Given the description of an element on the screen output the (x, y) to click on. 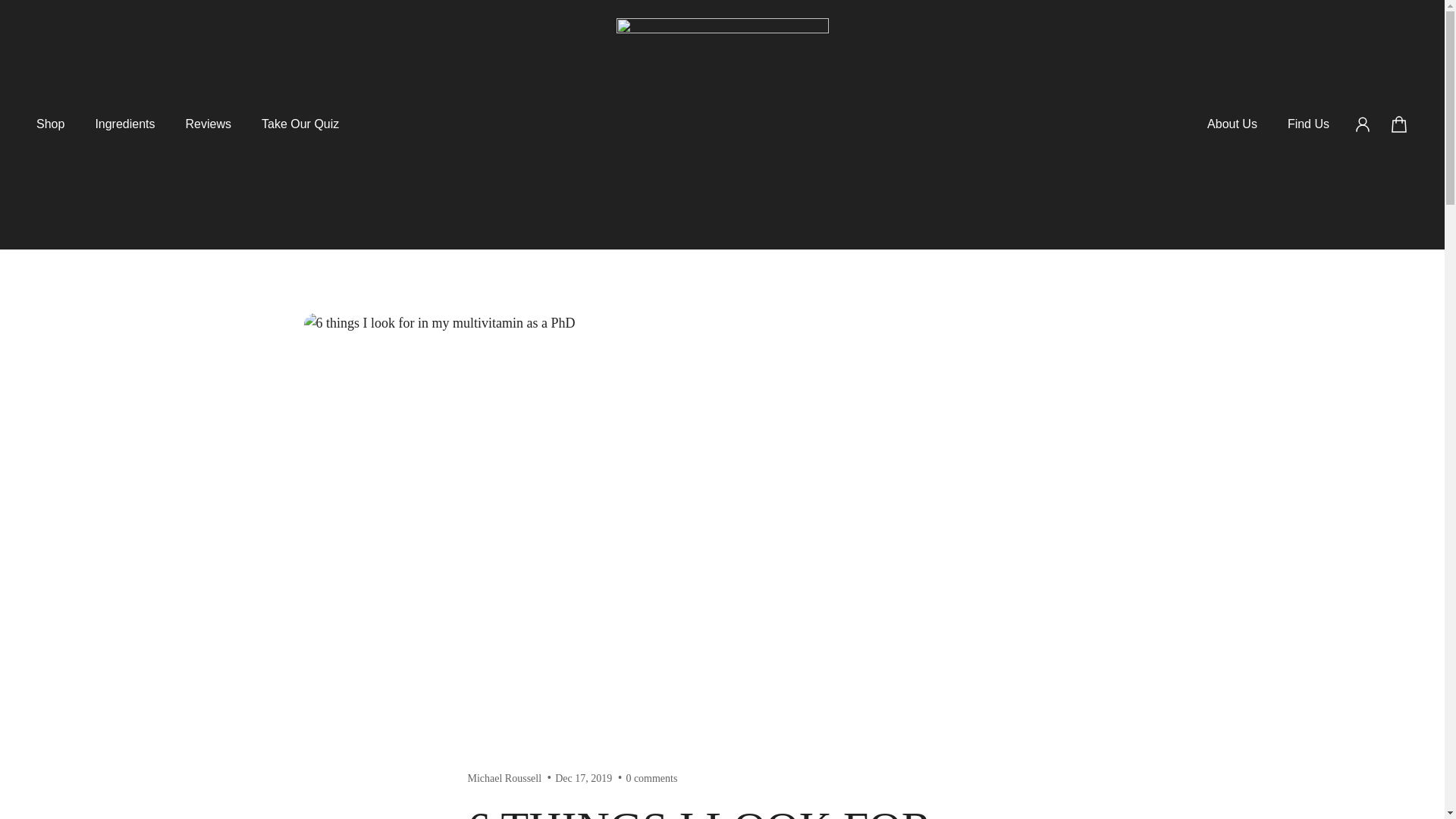
About Us (1232, 124)
Take Our Quiz (299, 131)
Ingredients (125, 131)
Shop (50, 131)
Reviews (208, 131)
Find Us (1307, 124)
